Given the description of an element on the screen output the (x, y) to click on. 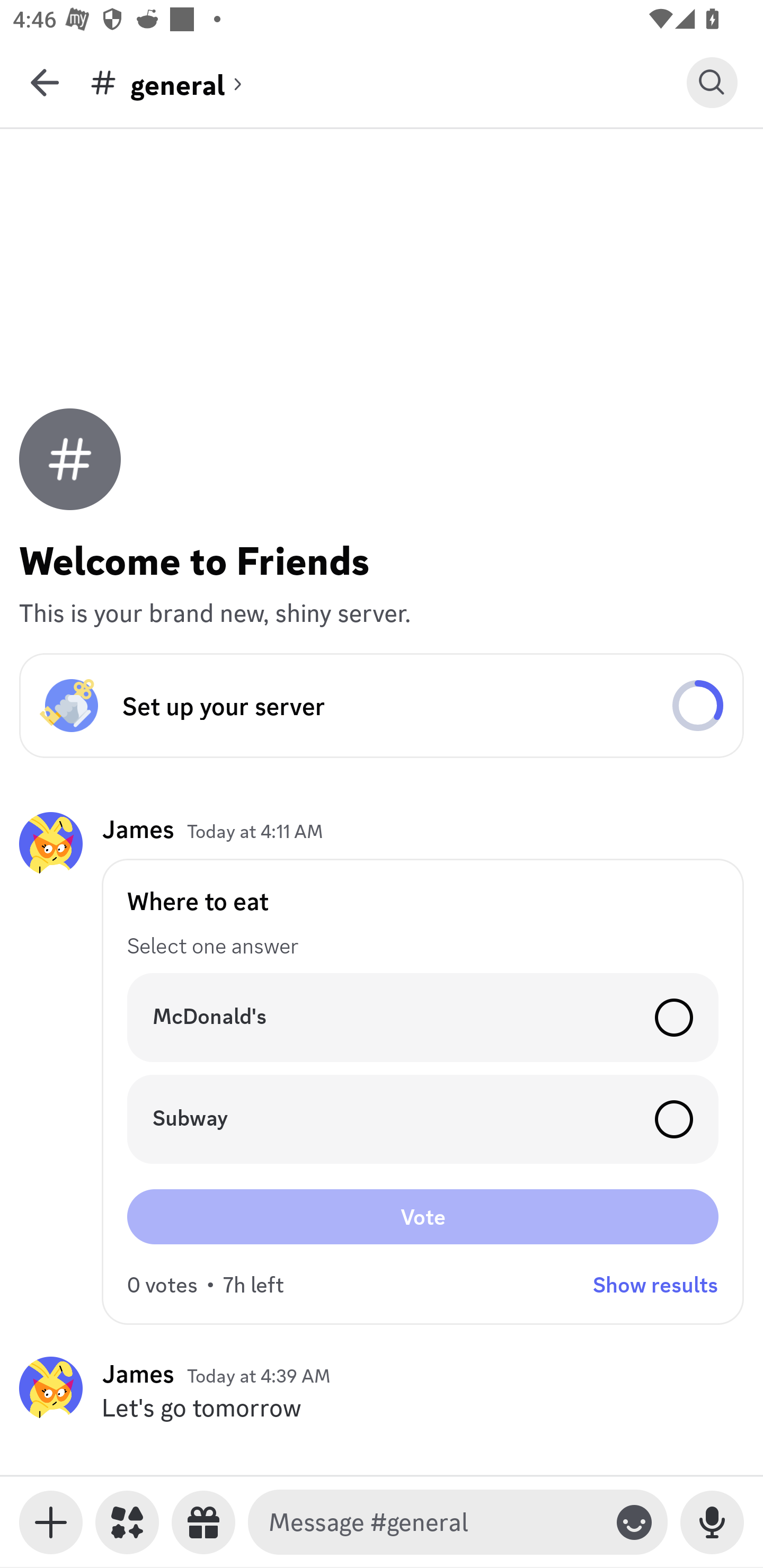
general (channel) general general (channel) (387, 82)
Back (44, 82)
Search (711, 82)
Set up your server (381, 705)
James (137, 829)
McDonald's (422, 1017)
Subway (422, 1118)
Vote (422, 1216)
0 votes  •  7h left (205, 1284)
Show results (655, 1284)
James (137, 1373)
Message #general Toggle emoji keyboard (457, 1522)
Toggle media keyboard (50, 1522)
Apps (126, 1522)
Send a gift (203, 1522)
Record Voice Message (711, 1522)
